Given the description of an element on the screen output the (x, y) to click on. 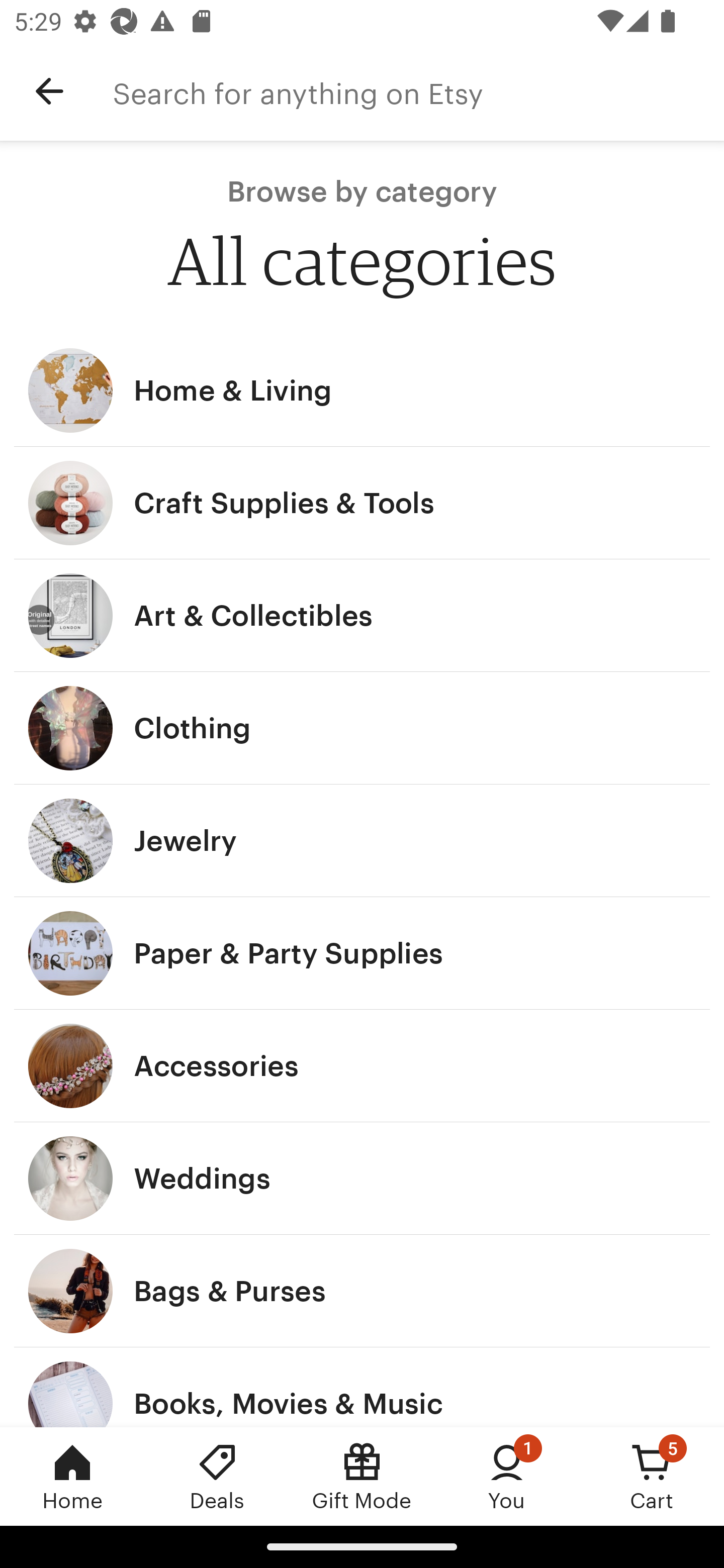
Navigate up (49, 91)
Search for anything on Etsy (418, 91)
Home & Living (361, 389)
Craft Supplies & Tools (361, 502)
Art & Collectibles (361, 615)
Clothing (361, 728)
Jewelry (361, 840)
Paper & Party Supplies (361, 952)
Accessories (361, 1065)
Weddings (361, 1178)
Bags & Purses (361, 1290)
Books, Movies & Music (361, 1386)
Deals (216, 1475)
Gift Mode (361, 1475)
You, 1 new notification You (506, 1475)
Cart, 5 new notifications Cart (651, 1475)
